Given the description of an element on the screen output the (x, y) to click on. 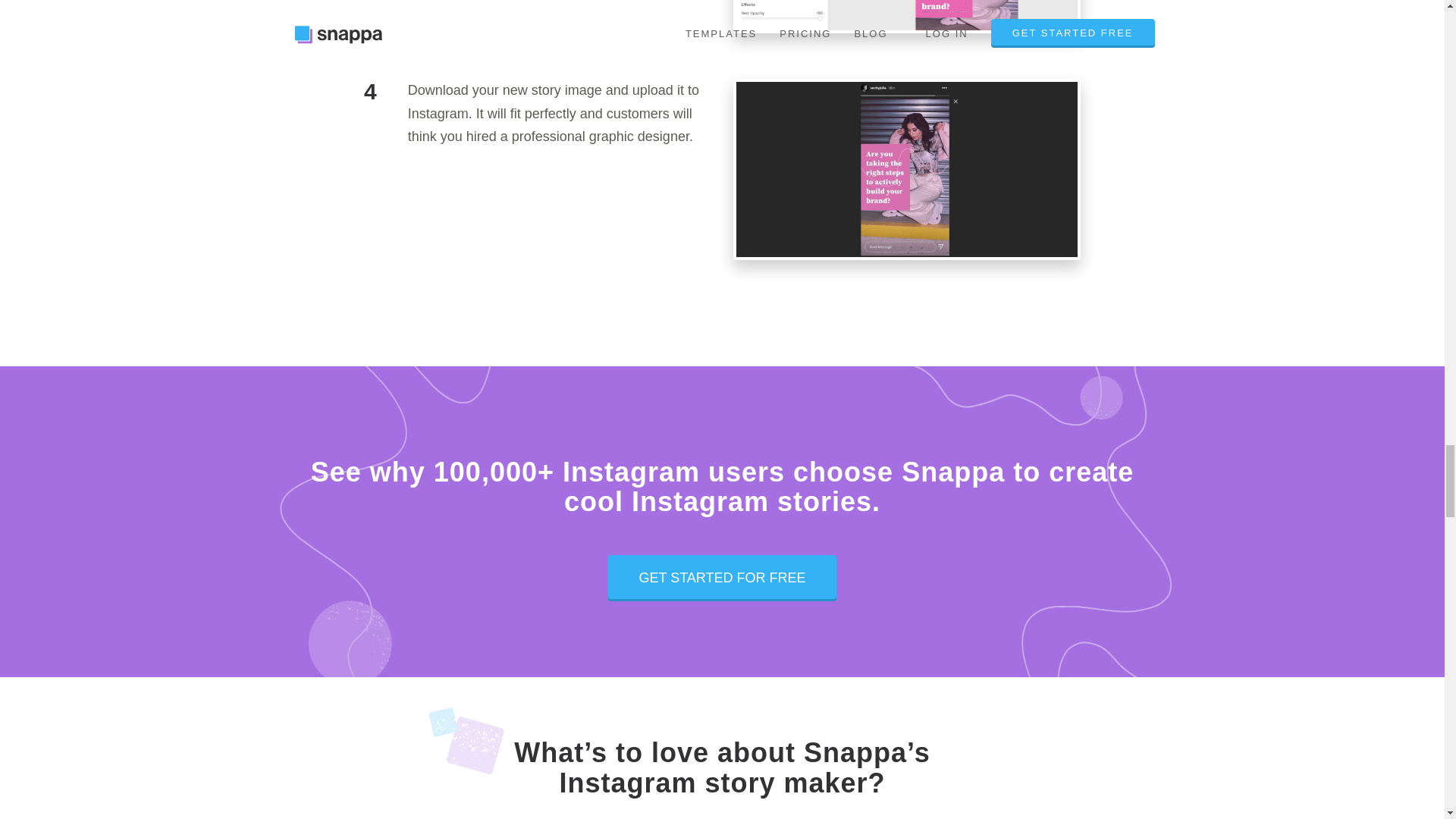
GET STARTED FOR FREE (721, 578)
